Given the description of an element on the screen output the (x, y) to click on. 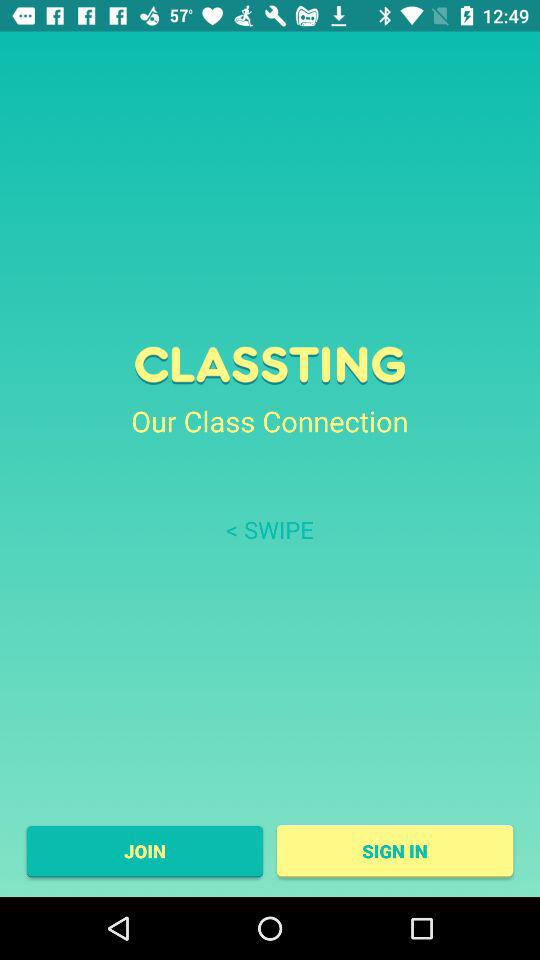
select sign in icon (394, 851)
